Given the description of an element on the screen output the (x, y) to click on. 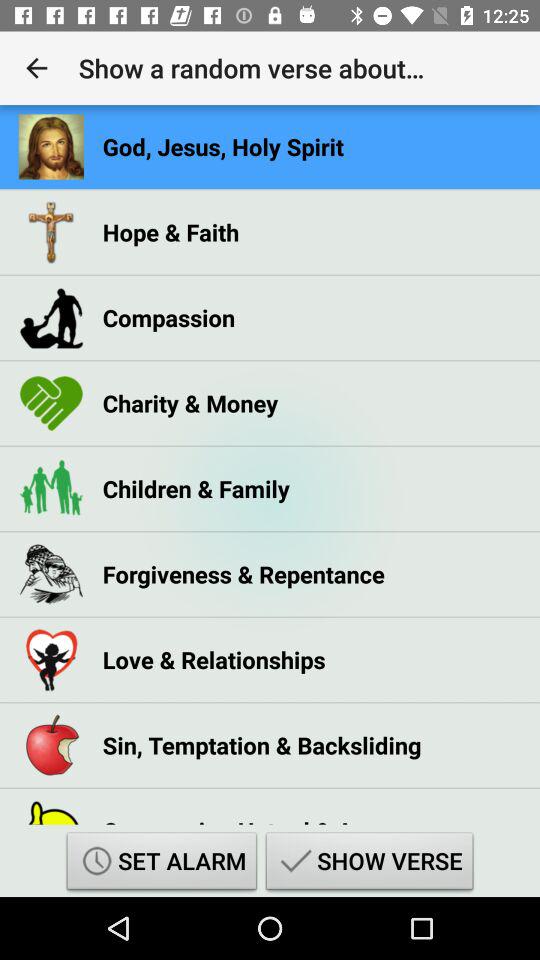
jump until charity & money (190, 403)
